Given the description of an element on the screen output the (x, y) to click on. 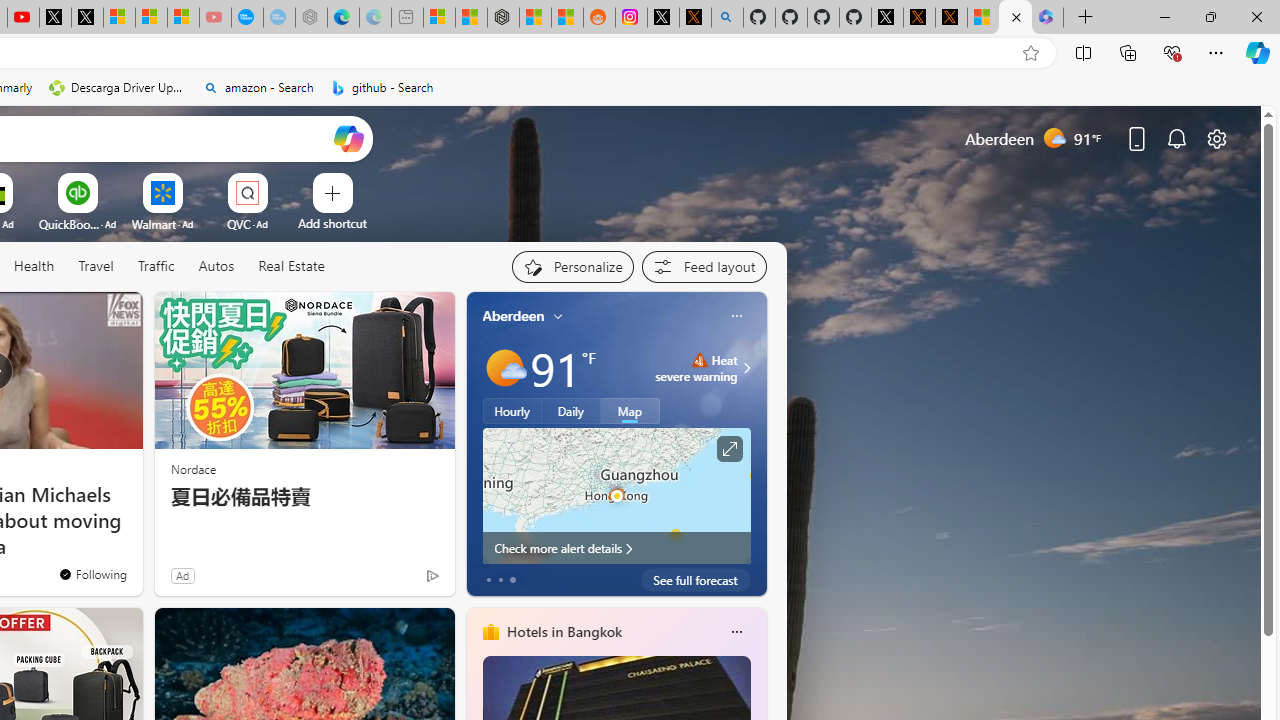
Login | Microsoft 365 (1047, 17)
Personalize your feed" (571, 266)
Profile / X (886, 17)
Check more alert details (616, 547)
Real Estate (291, 265)
Traffic (155, 267)
